Given the description of an element on the screen output the (x, y) to click on. 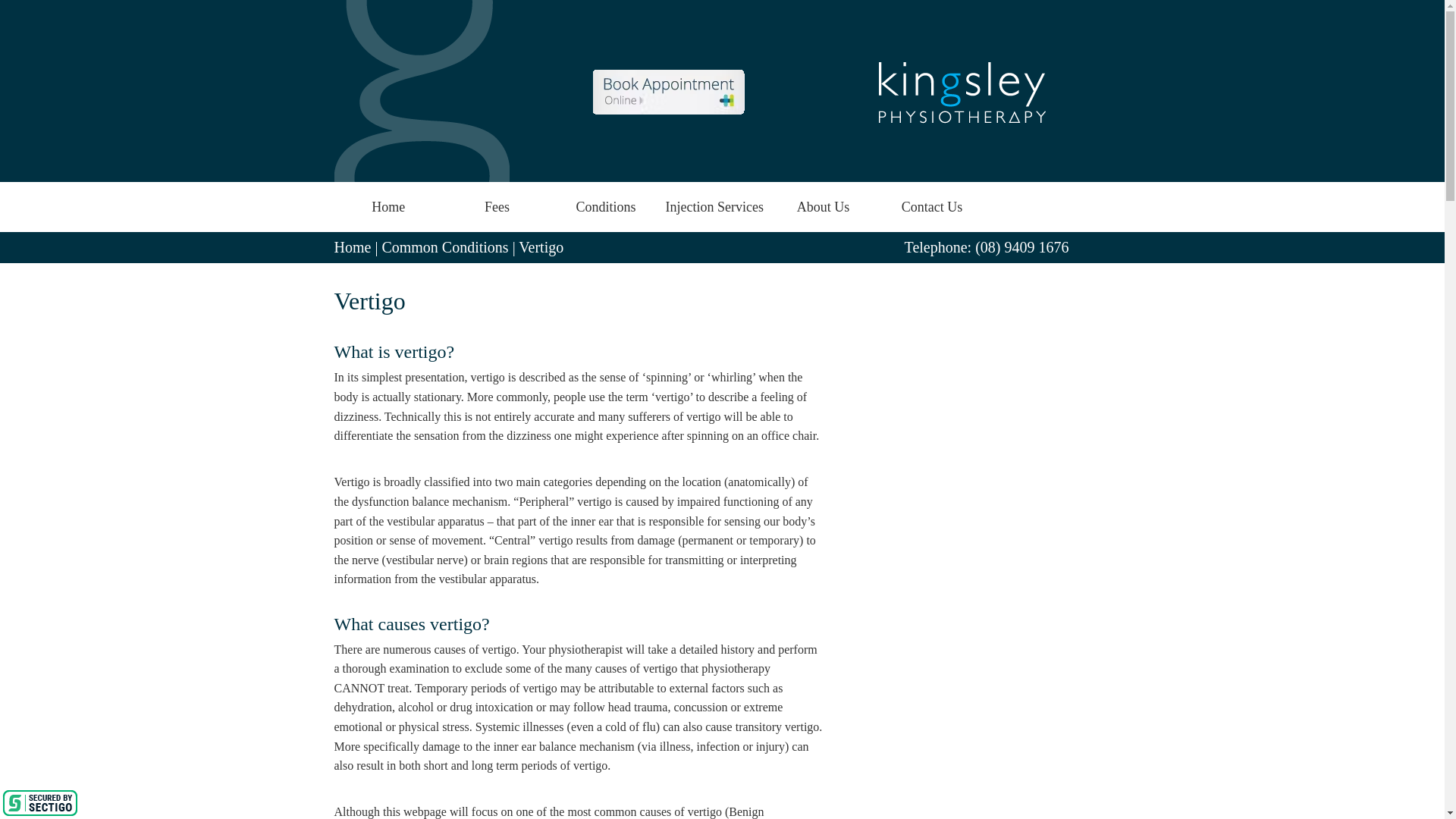
Vertigo (540, 247)
Contact Us (931, 206)
Fees (496, 206)
About Us (822, 206)
Injection Services (714, 206)
Common Conditions (444, 247)
Conditions (605, 206)
Go to Common Conditions. (444, 247)
Home (387, 206)
Home (352, 247)
